Given the description of an element on the screen output the (x, y) to click on. 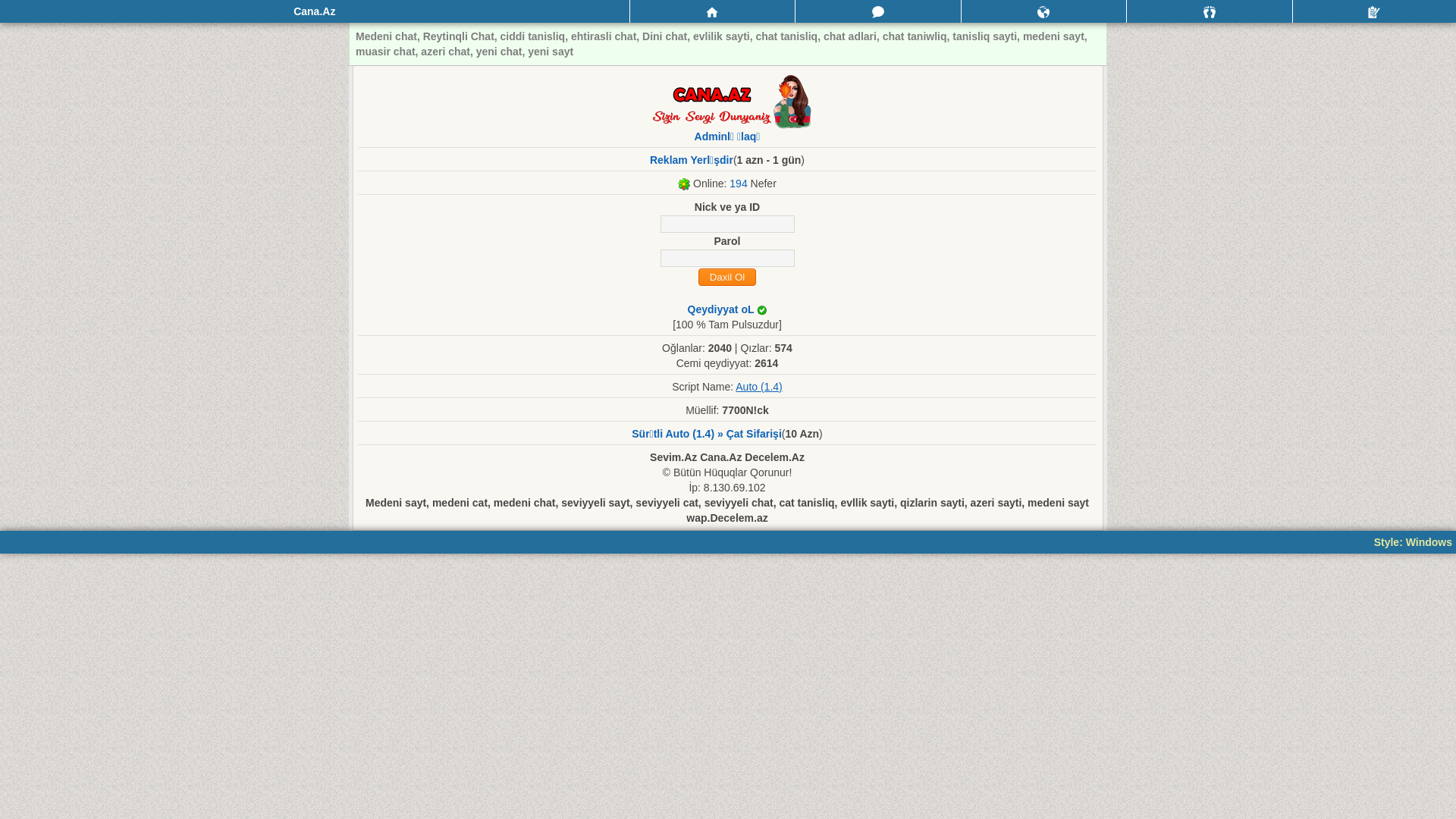
194 Element type: text (737, 183)
Auto (1.4) Element type: text (758, 386)
Qeydiyyat oL Element type: text (722, 309)
Parol Element type: hover (726, 257)
Bildirisler Element type: hover (1043, 11)
Style: Windows Element type: text (1413, 542)
Qonaqlar Element type: hover (1209, 11)
Daxil Ol Element type: text (726, 276)
nick Element type: hover (726, 223)
Mesajlar Element type: hover (877, 11)
